Given the description of an element on the screen output the (x, y) to click on. 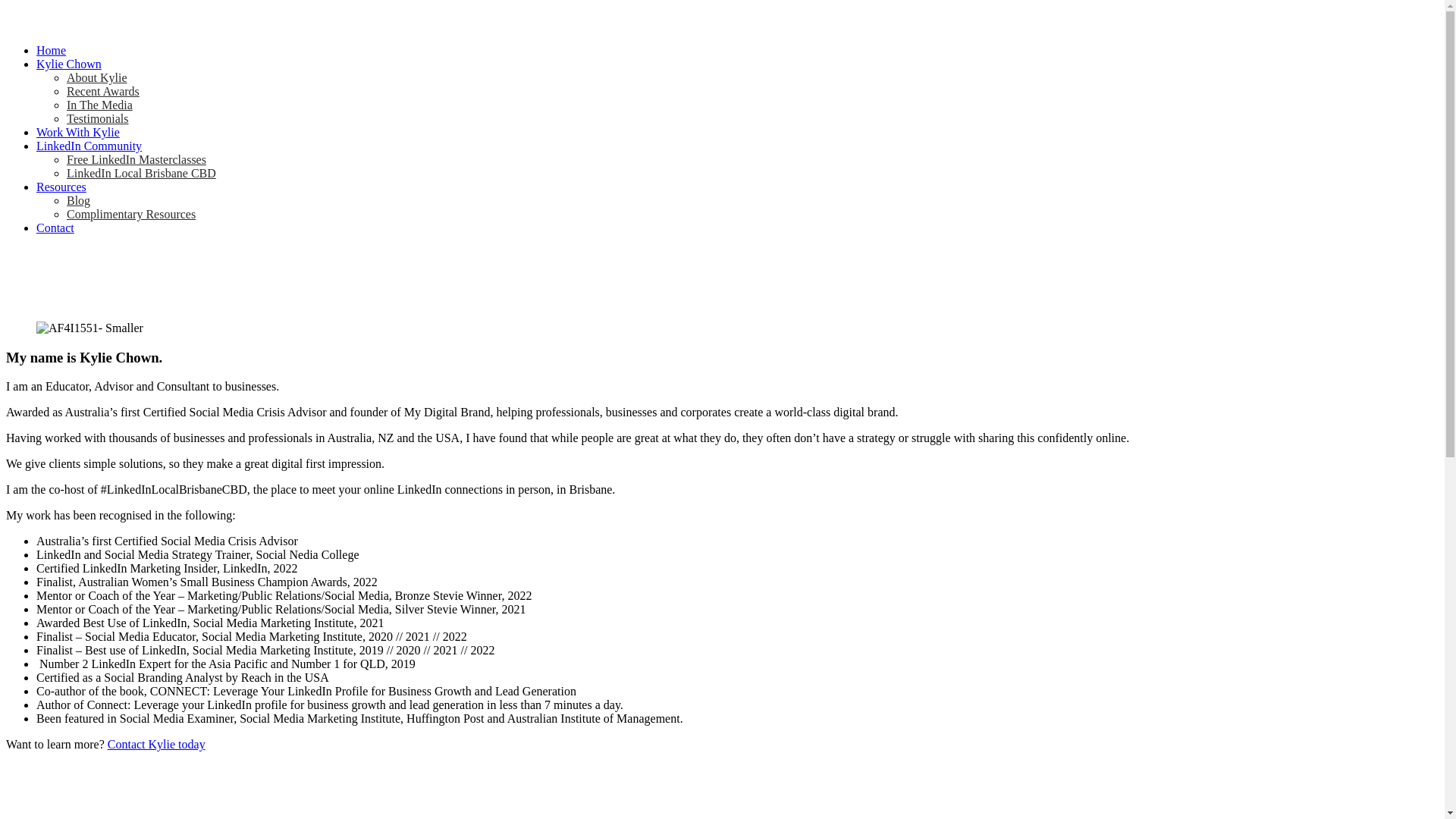
LinkedIn Local Brisbane CBD Element type: text (141, 172)
Testimonials Element type: text (97, 118)
Kylie Chown Element type: text (68, 63)
Work With Kylie Element type: text (77, 131)
Home Element type: text (50, 49)
Recent Awards Element type: text (102, 90)
About Kylie Element type: text (96, 77)
Complimentary Resources Element type: text (130, 213)
LinkedIn Community Element type: text (88, 145)
Resources Element type: text (61, 186)
Contact Kylie today Element type: text (156, 743)
In The Media Element type: text (99, 104)
Contact Element type: text (55, 227)
Free LinkedIn Masterclasses Element type: text (136, 159)
AF4I1551- Smaller Element type: hover (89, 328)
Blog Element type: text (78, 200)
